Given the description of an element on the screen output the (x, y) to click on. 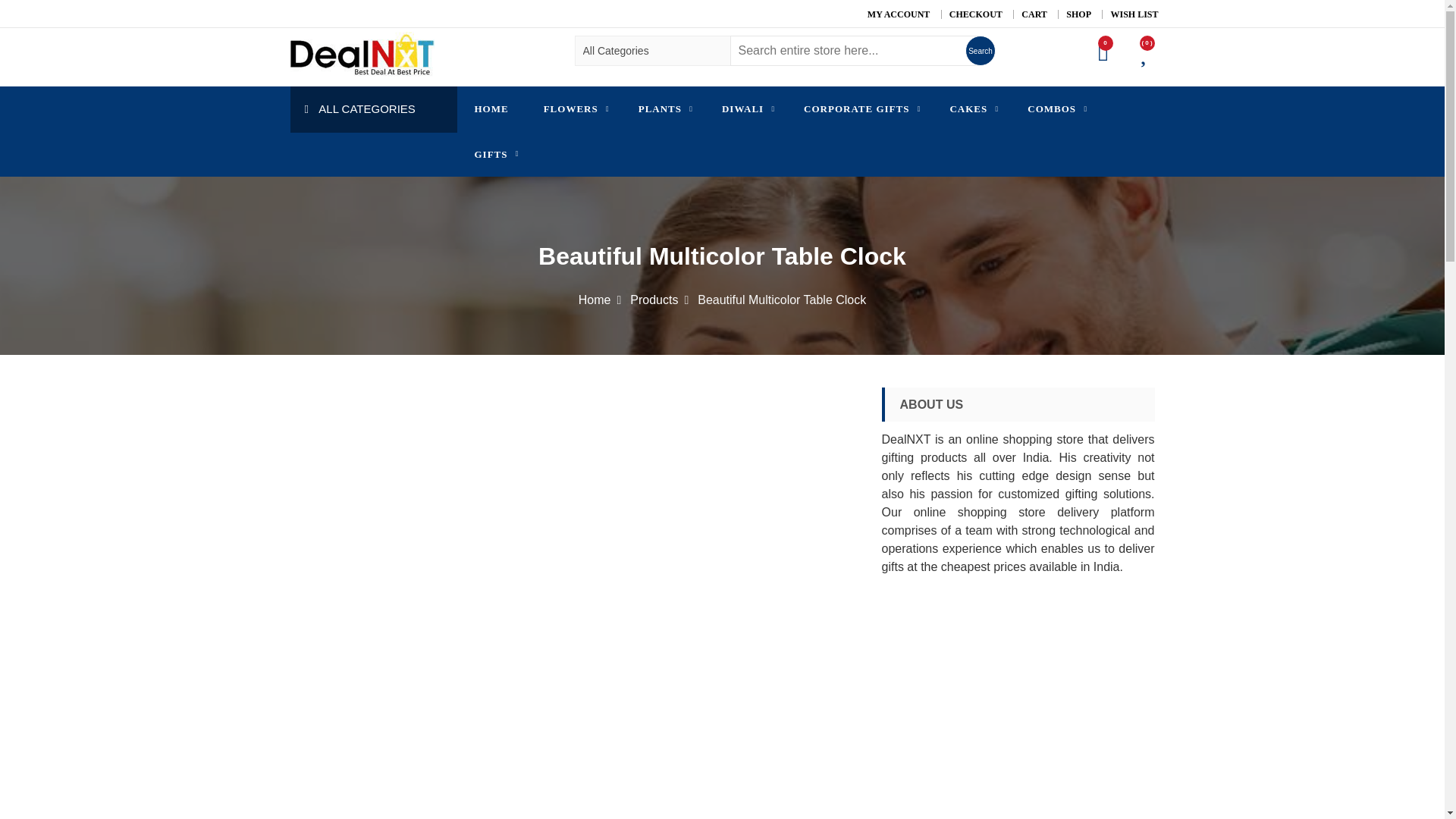
Wishlist (1147, 56)
FLOWERS (573, 108)
MY ACCOUNT (898, 14)
HOME (491, 108)
CHECKOUT (976, 14)
WISH LIST (1133, 14)
CART (1034, 14)
DealNXT (339, 94)
Search (980, 51)
SHOP (1077, 14)
0 (1105, 51)
PLANTS (662, 108)
DIWALI (745, 108)
CAKES (970, 108)
Search (980, 51)
